Given the description of an element on the screen output the (x, y) to click on. 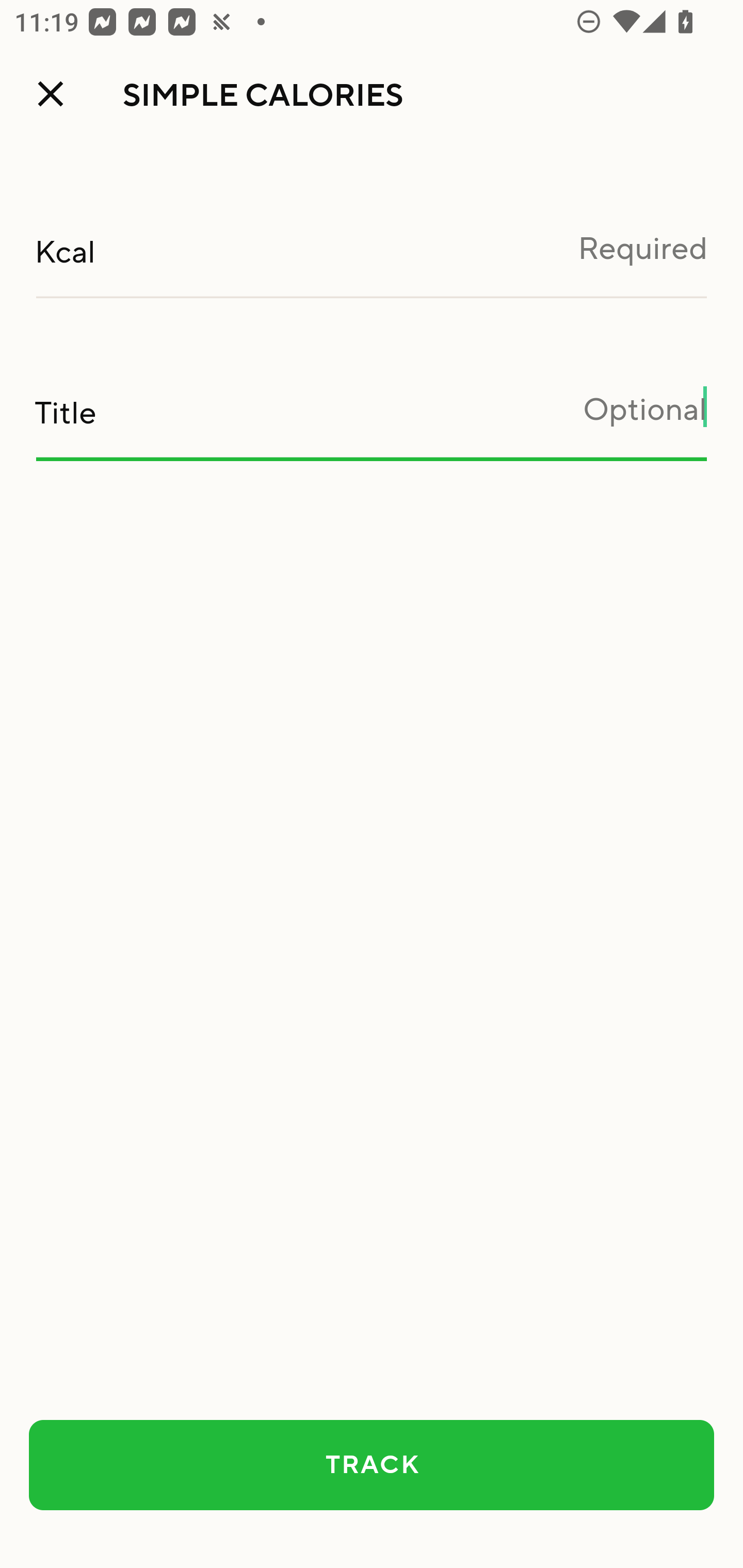
Required (371, 259)
Optional (371, 420)
TRACK (371, 1464)
